Given the description of an element on the screen output the (x, y) to click on. 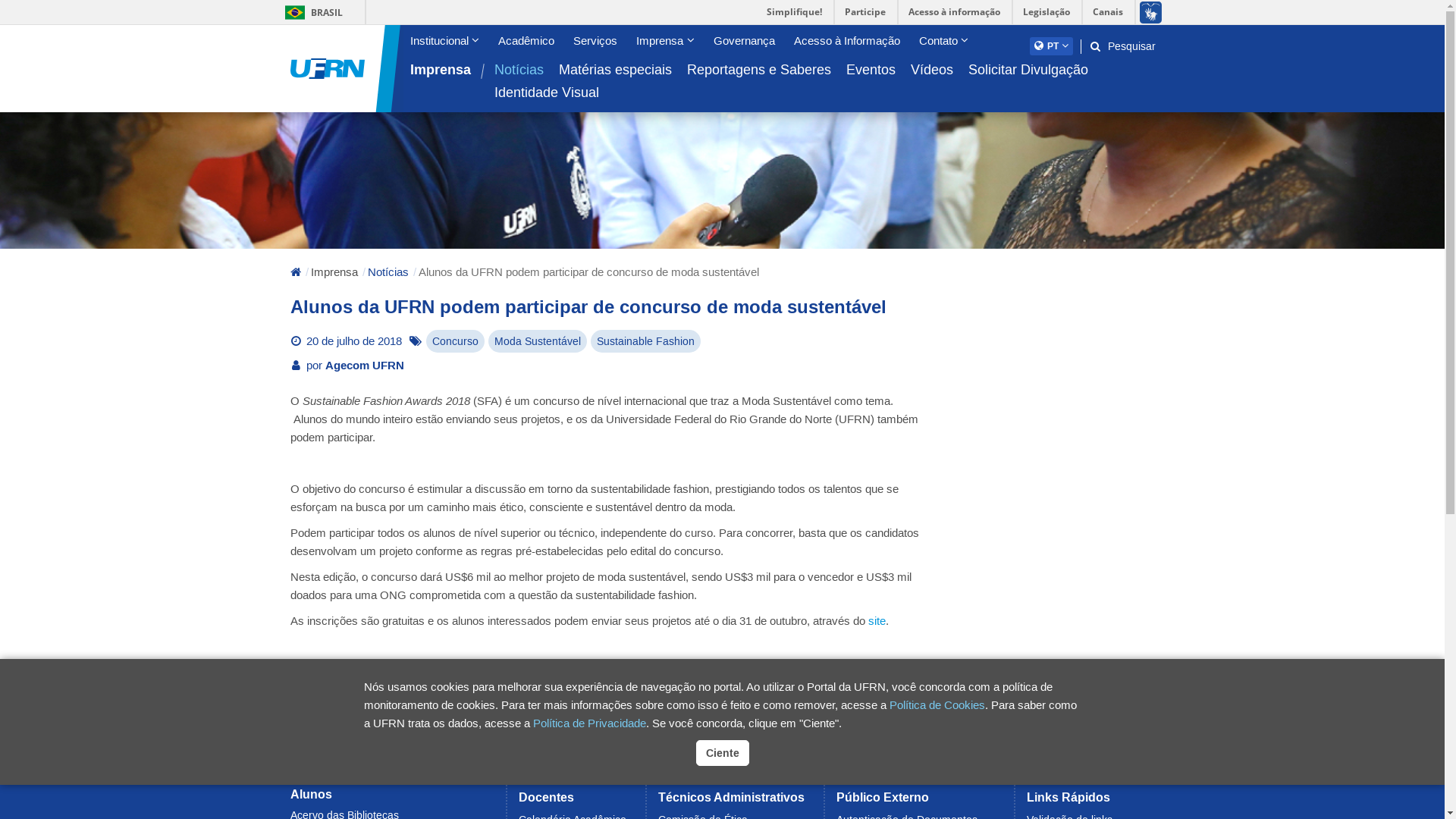
Eventos Element type: text (870, 70)
Ouvidoria
UFRN Element type: text (740, 721)
BRASIL Element type: text (295, 12)
PT Element type: text (1051, 45)
site Element type: text (875, 620)
Concurso Element type: text (455, 340)
Contato
Abrir/fechar sub-menu Element type: text (940, 40)
Reportagens e Saberes Element type: text (758, 70)
Imprensa
Abrir/fechar sub-menu Element type: text (663, 40)
Institucional
Abrir/fechar sub-menu Element type: text (442, 40)
Sustainable Fashion Element type: text (644, 340)
Pesquisar Element type: text (1122, 46)
Portal de
Dados Abertos Element type: text (1086, 721)
Identidade Visual Element type: text (546, 92)
Ciente Element type: text (722, 752)
